Given the description of an element on the screen output the (x, y) to click on. 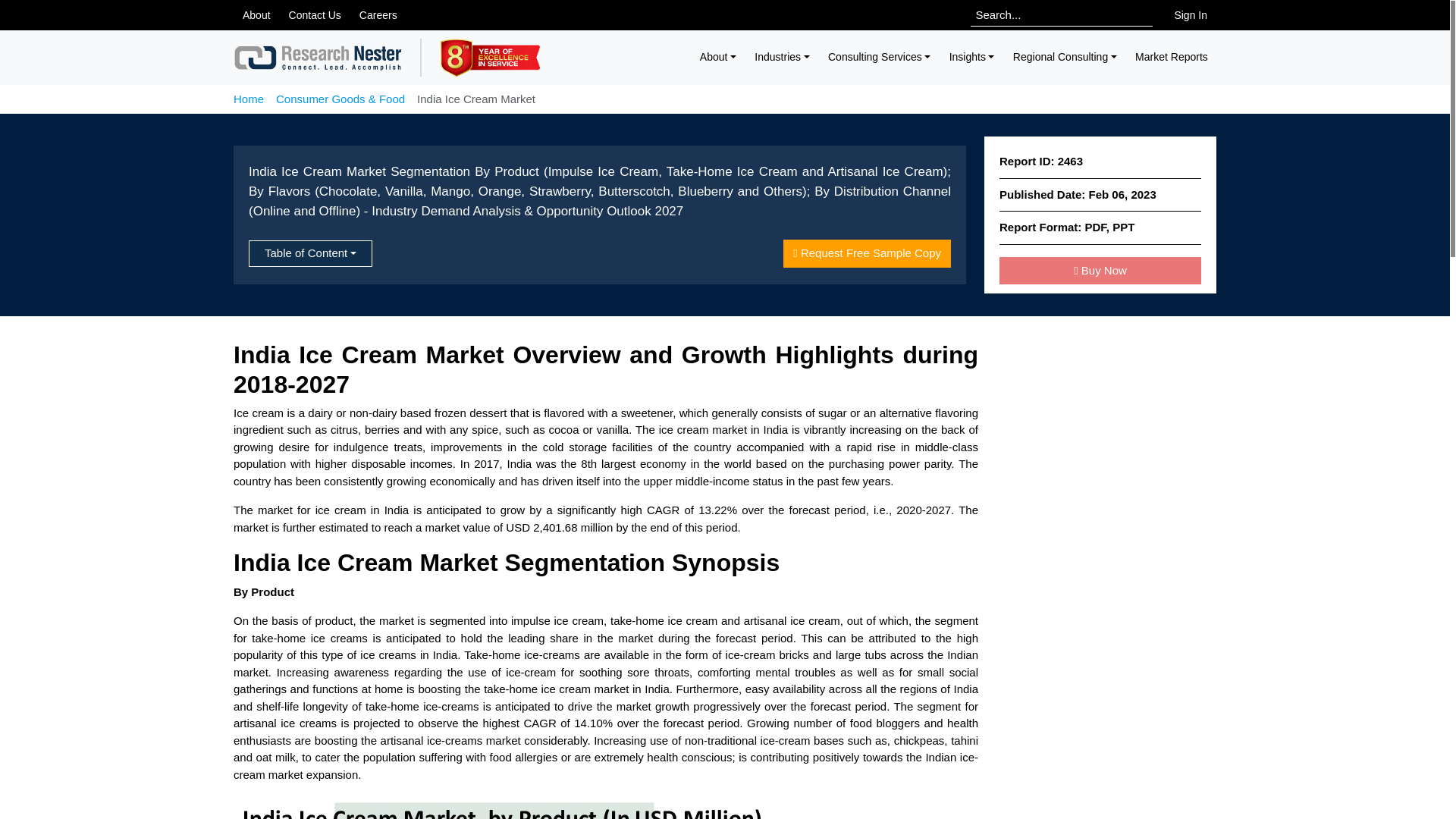
Media Center (378, 15)
About (255, 15)
About (718, 57)
Contact Us (314, 15)
Research Nester (318, 57)
Sign In (1189, 15)
Contact Us (314, 15)
Media Center (255, 15)
Industries (781, 57)
Careers (378, 15)
